Given the description of an element on the screen output the (x, y) to click on. 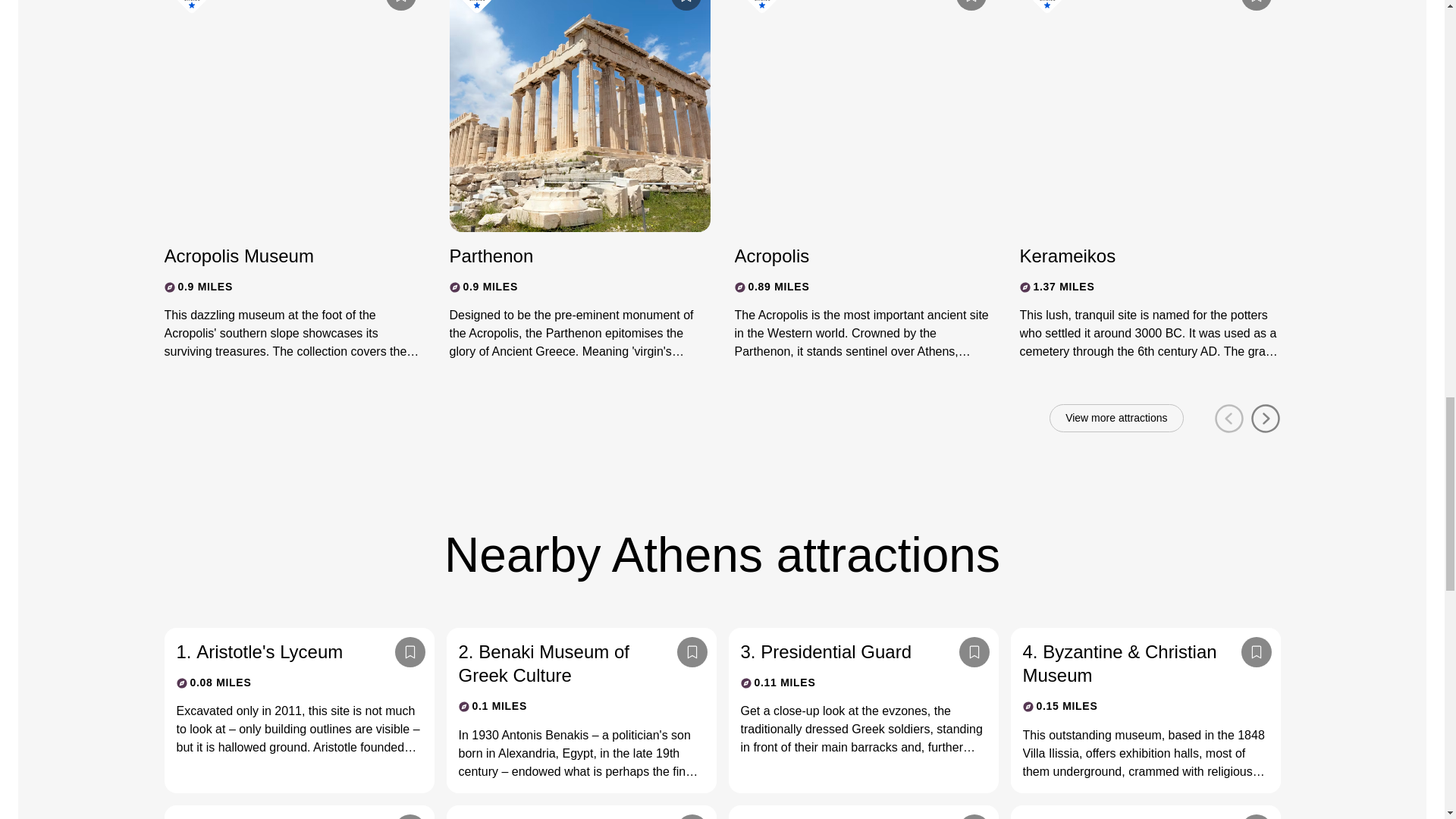
Login (1255, 5)
Parthenon (566, 255)
Acropolis Museum (280, 255)
Acropolis (851, 255)
Login (399, 5)
Login (684, 5)
Login (970, 5)
Kerameikos (1136, 255)
